Given the description of an element on the screen output the (x, y) to click on. 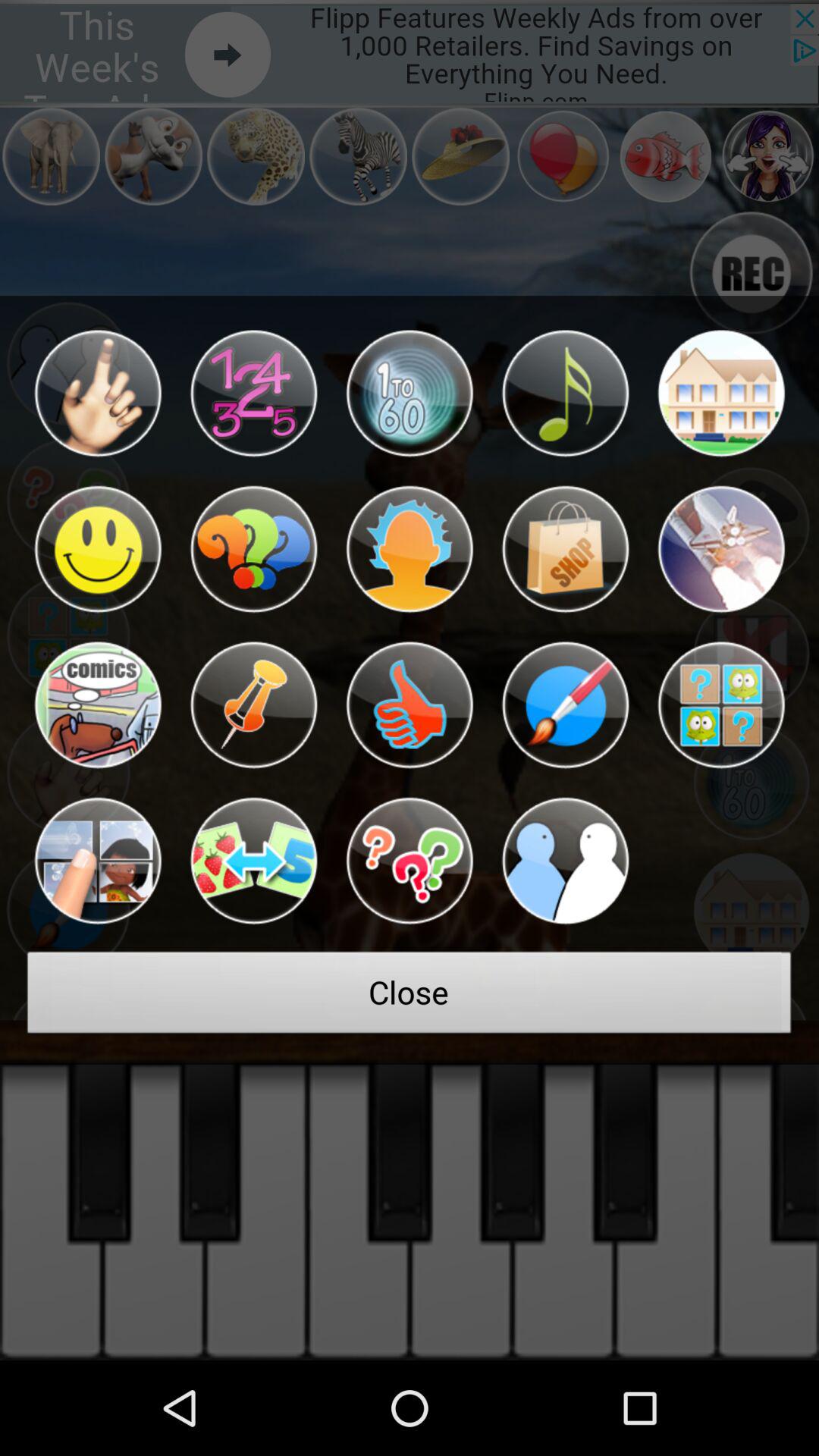
select the emoji (409, 393)
